Given the description of an element on the screen output the (x, y) to click on. 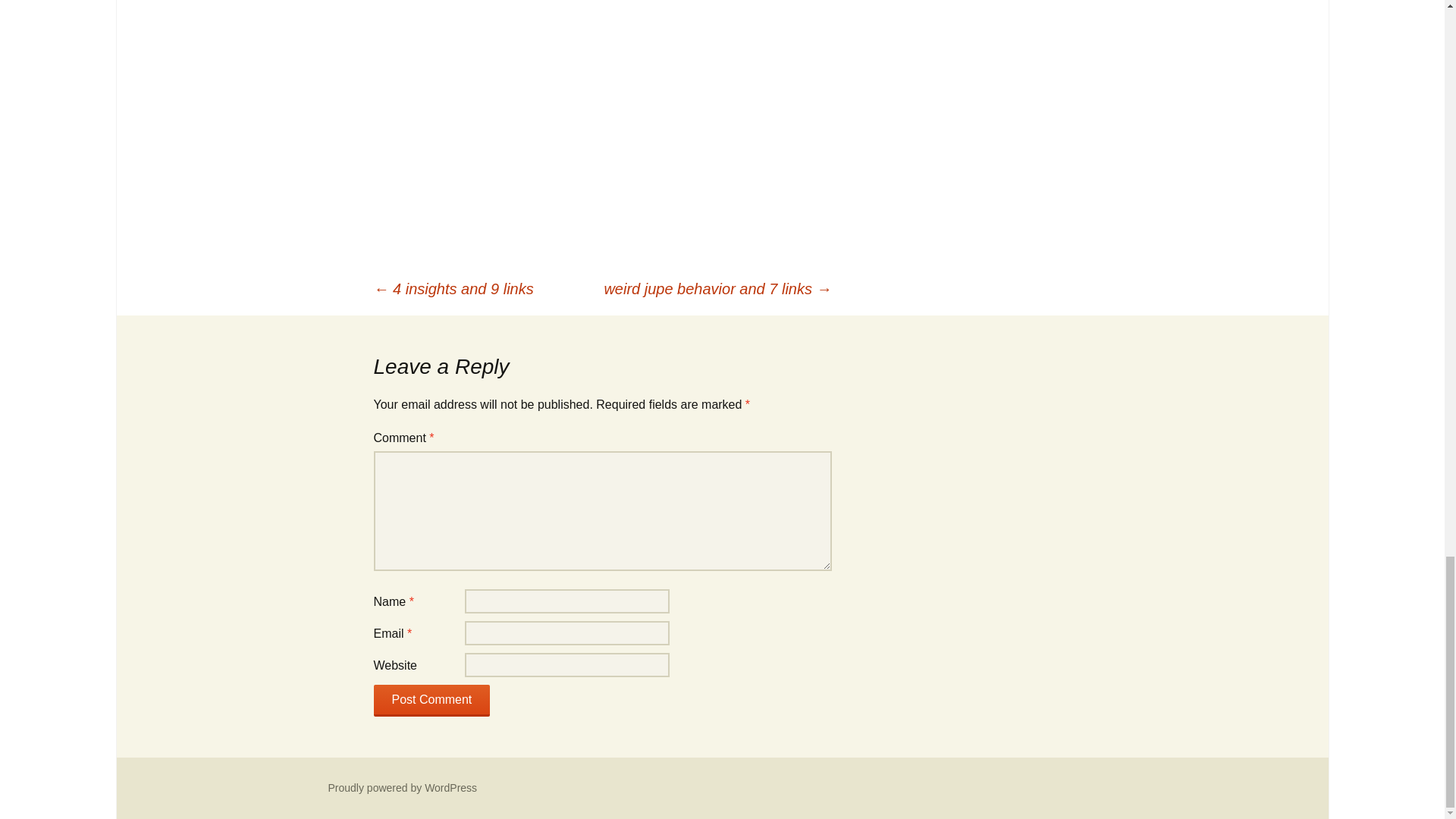
Proudly powered by WordPress (402, 787)
Post Comment (430, 700)
Post Comment (430, 700)
